Given the description of an element on the screen output the (x, y) to click on. 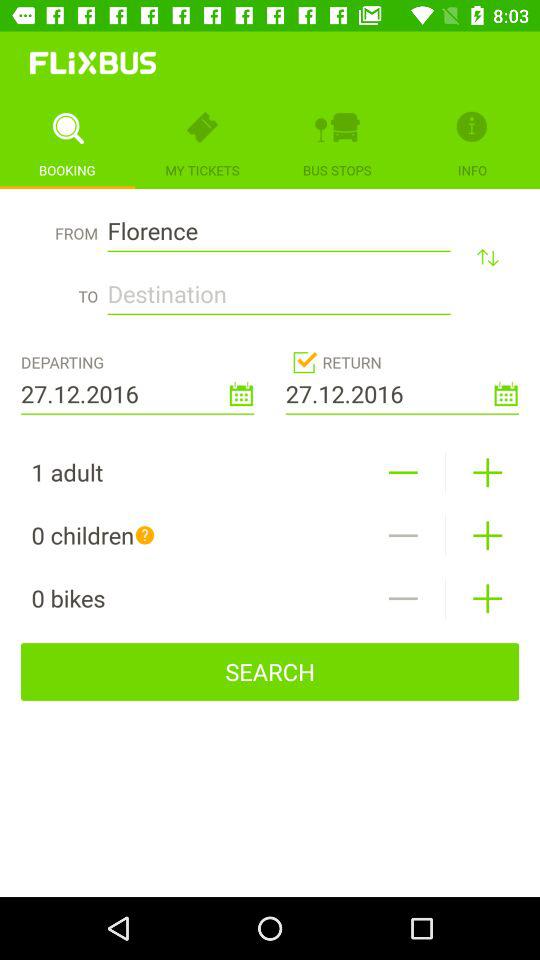
reverse destinations (487, 256)
